Given the description of an element on the screen output the (x, y) to click on. 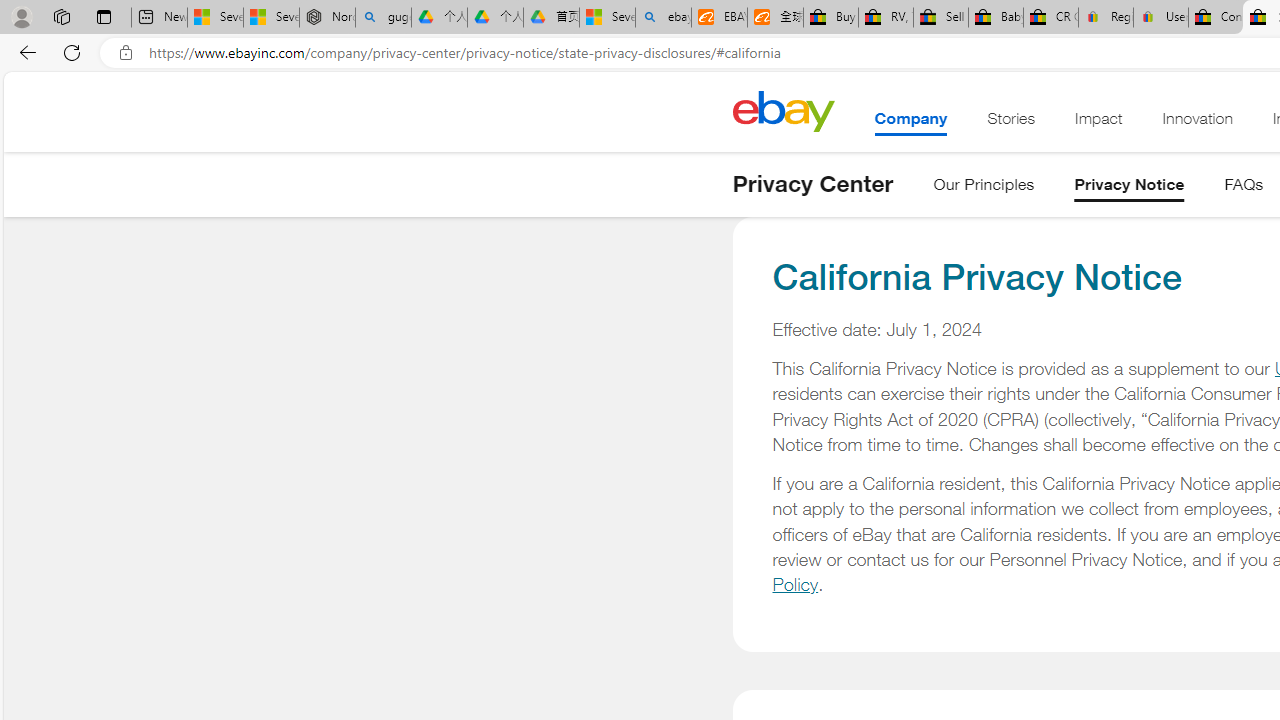
Consumer Health Data Privacy Policy - eBay Inc. (1215, 17)
Privacy Notice (1129, 188)
Privacy Center (812, 183)
Register: Create a personal eBay account (1105, 17)
User Privacy Notice | eBay (1160, 17)
